Given the description of an element on the screen output the (x, y) to click on. 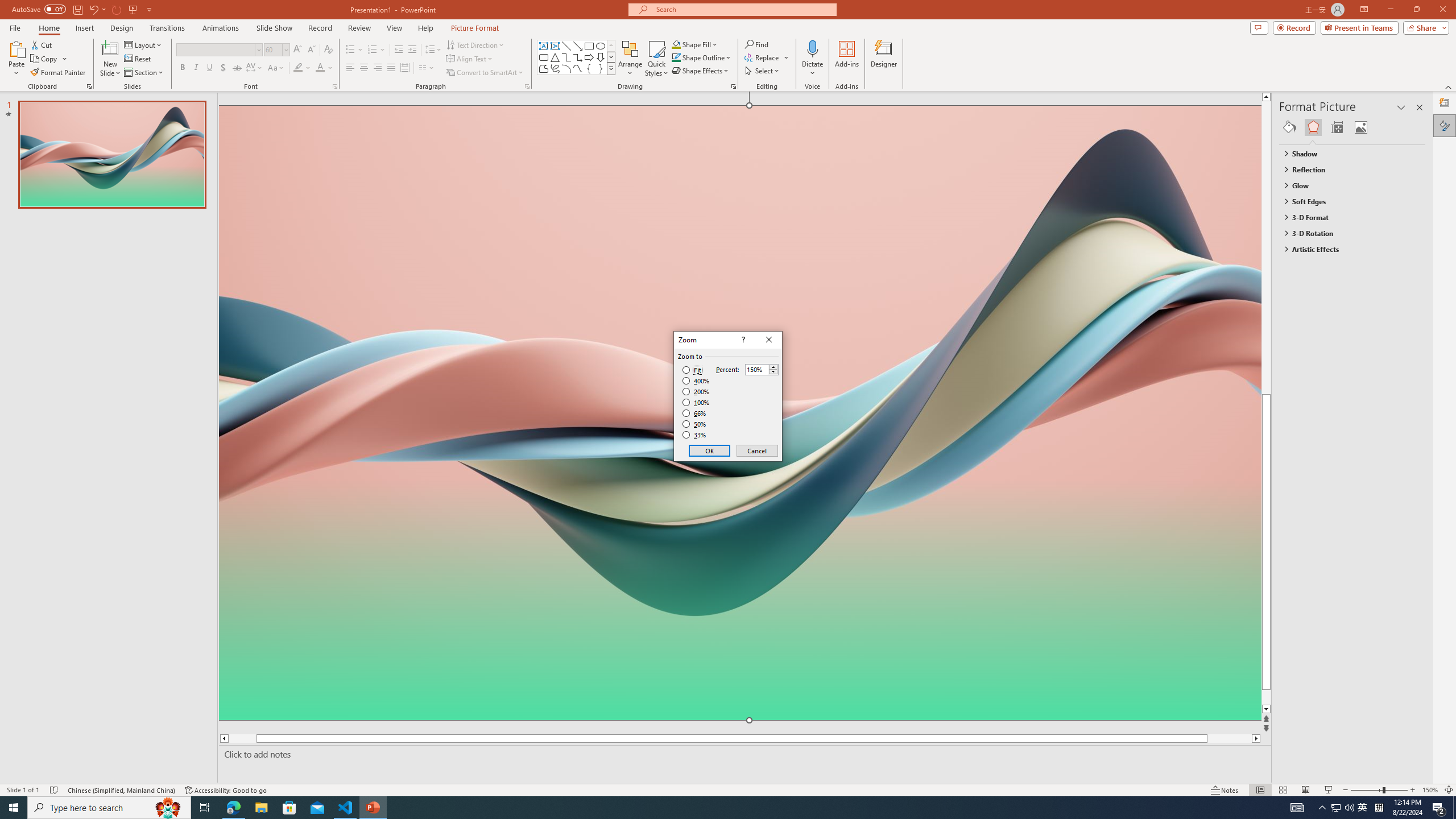
66% (694, 412)
OK (709, 450)
